Given the description of an element on the screen output the (x, y) to click on. 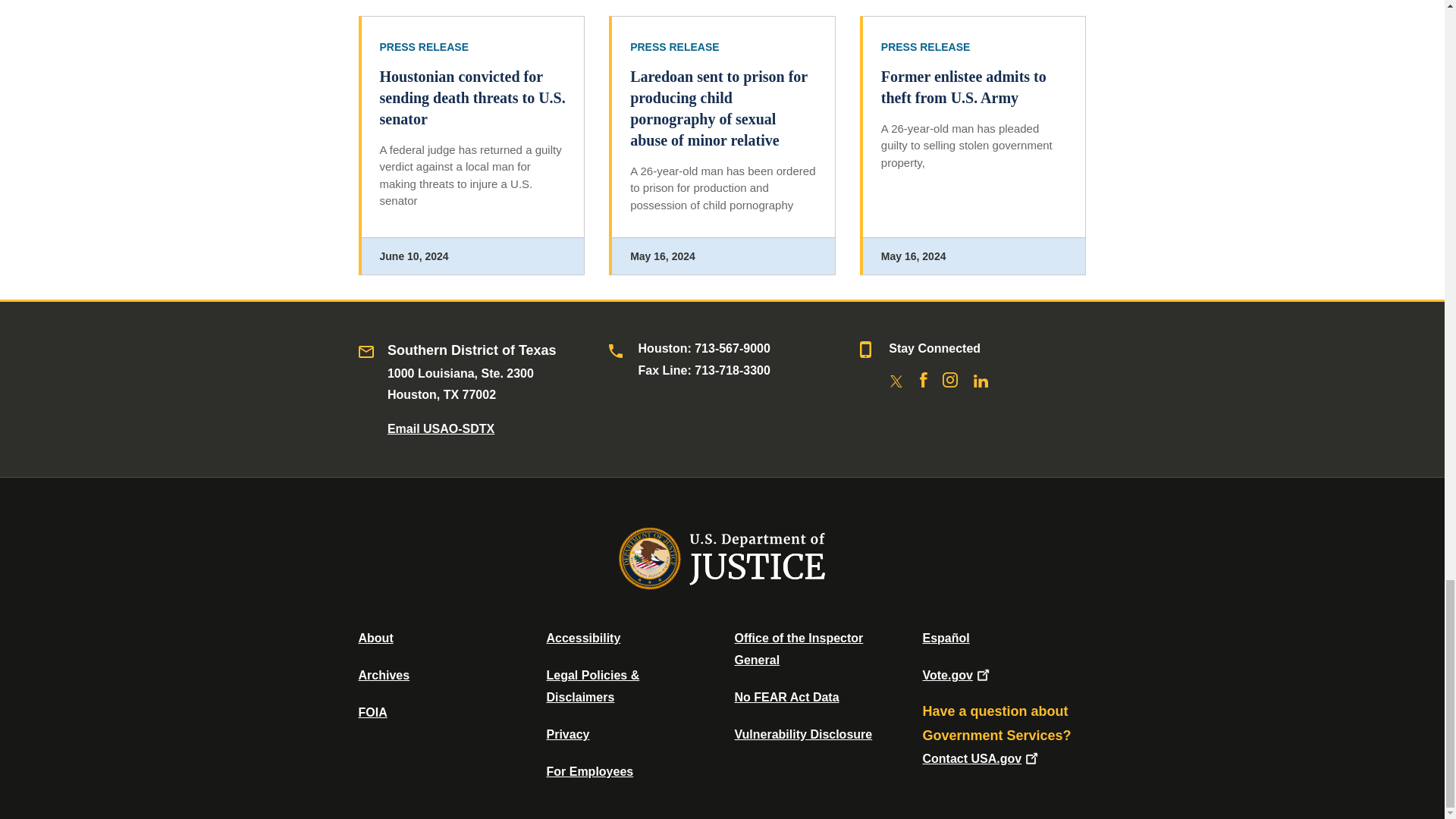
For Employees (589, 771)
Department of Justice Archive (383, 675)
Office of Information Policy (372, 712)
About DOJ (375, 637)
Accessibility Statement (583, 637)
Data Posted Pursuant To The No Fear Act (785, 697)
Legal Policies and Disclaimers (592, 686)
